Given the description of an element on the screen output the (x, y) to click on. 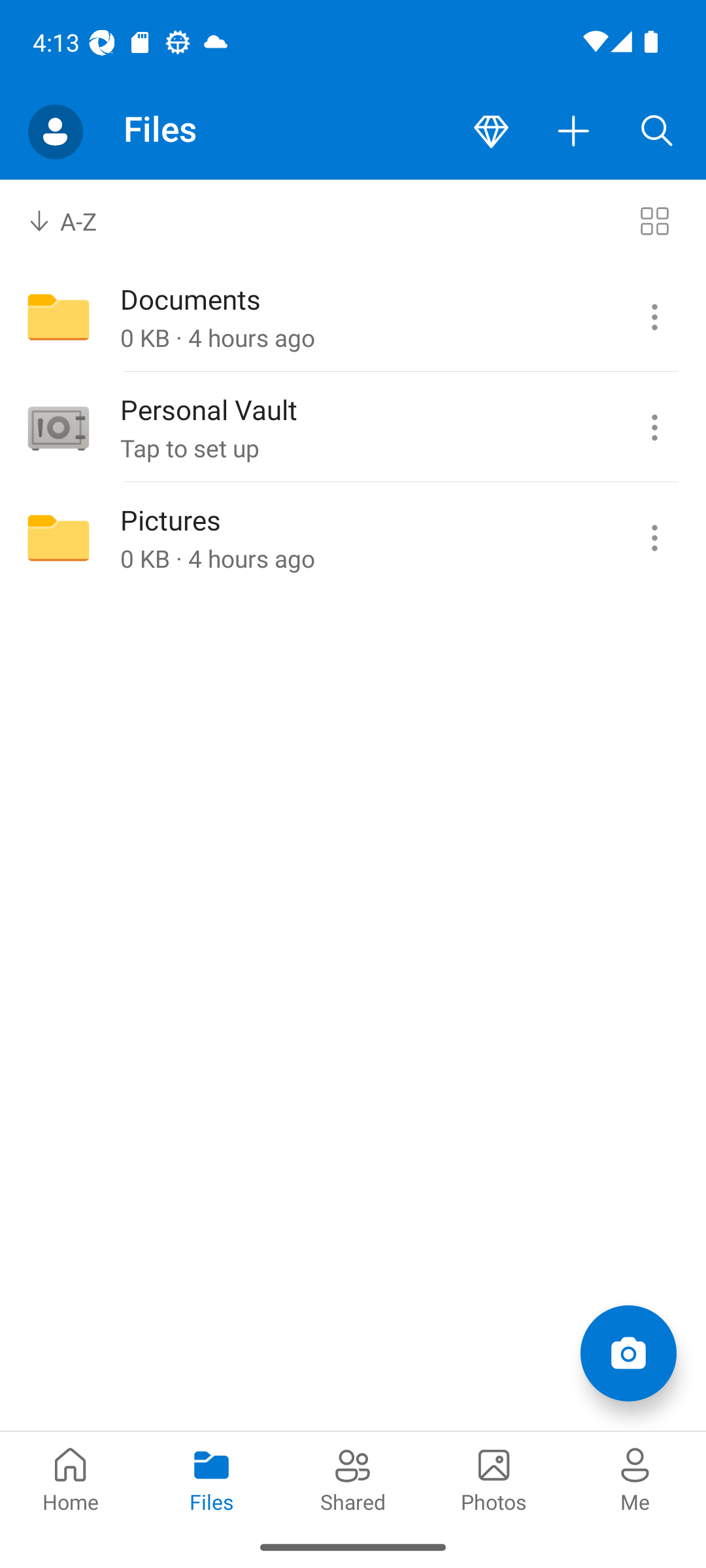
Account switcher (55, 131)
Premium button (491, 131)
More actions button (574, 131)
Search button (656, 131)
A-Z Sort by combo box, sort by name, A to Z (76, 220)
Switch to tiles view (654, 220)
Documents commands (654, 317)
Personal Vault commands (654, 427)
Pictures commands (654, 537)
Add items Scan (628, 1352)
Home pivot Home (70, 1478)
Shared pivot Shared (352, 1478)
Photos pivot Photos (493, 1478)
Me pivot Me (635, 1478)
